Given the description of an element on the screen output the (x, y) to click on. 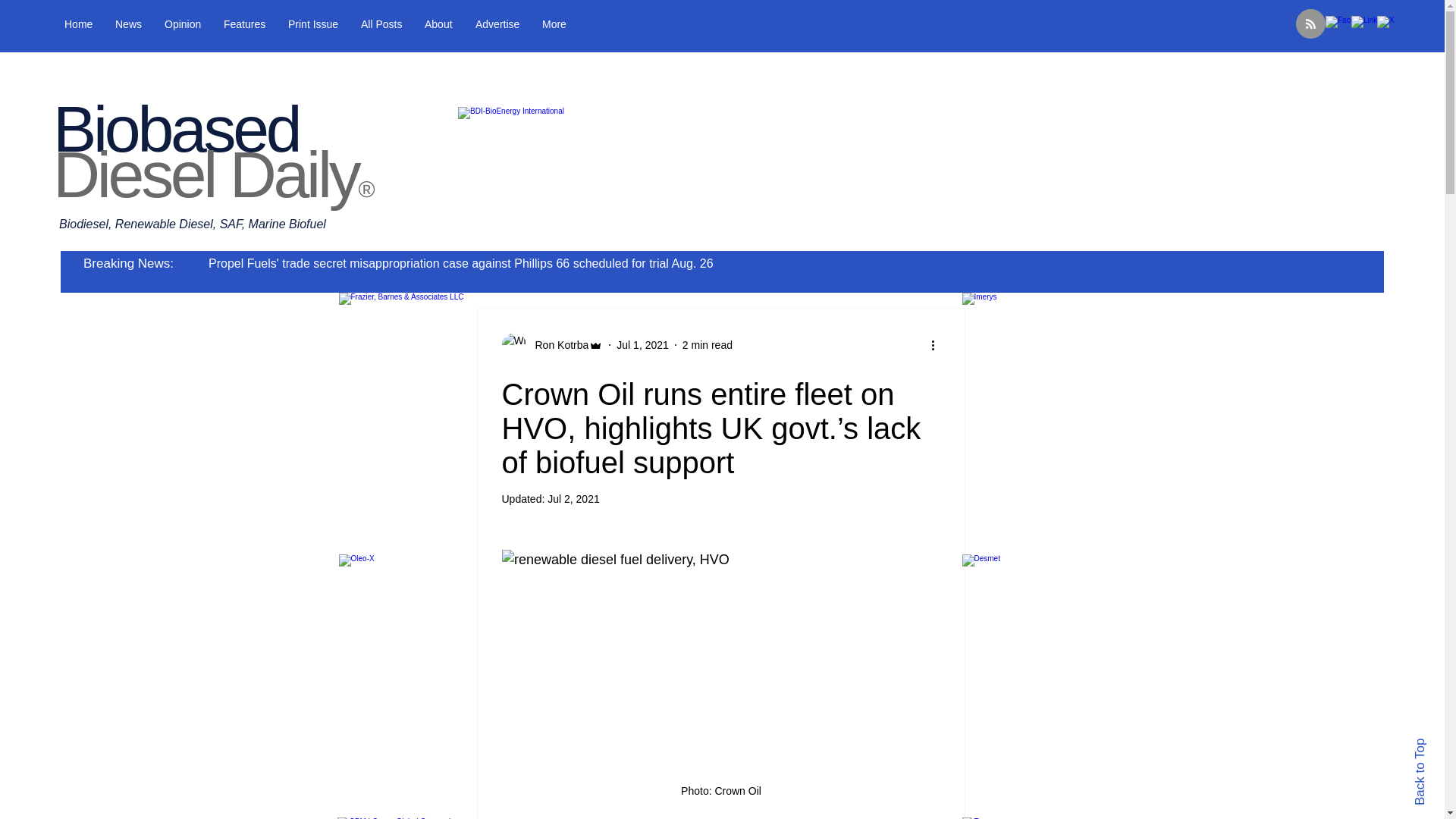
BDI-BioEnergy International (718, 172)
Diesel Daily (205, 174)
Jul 1, 2021 (641, 344)
Ron Kotrba (557, 344)
Biobased (175, 128)
All Posts (426, 24)
Jul 2, 2021 (573, 499)
About (491, 24)
Print Issue (346, 24)
2 min read (707, 344)
